Given the description of an element on the screen output the (x, y) to click on. 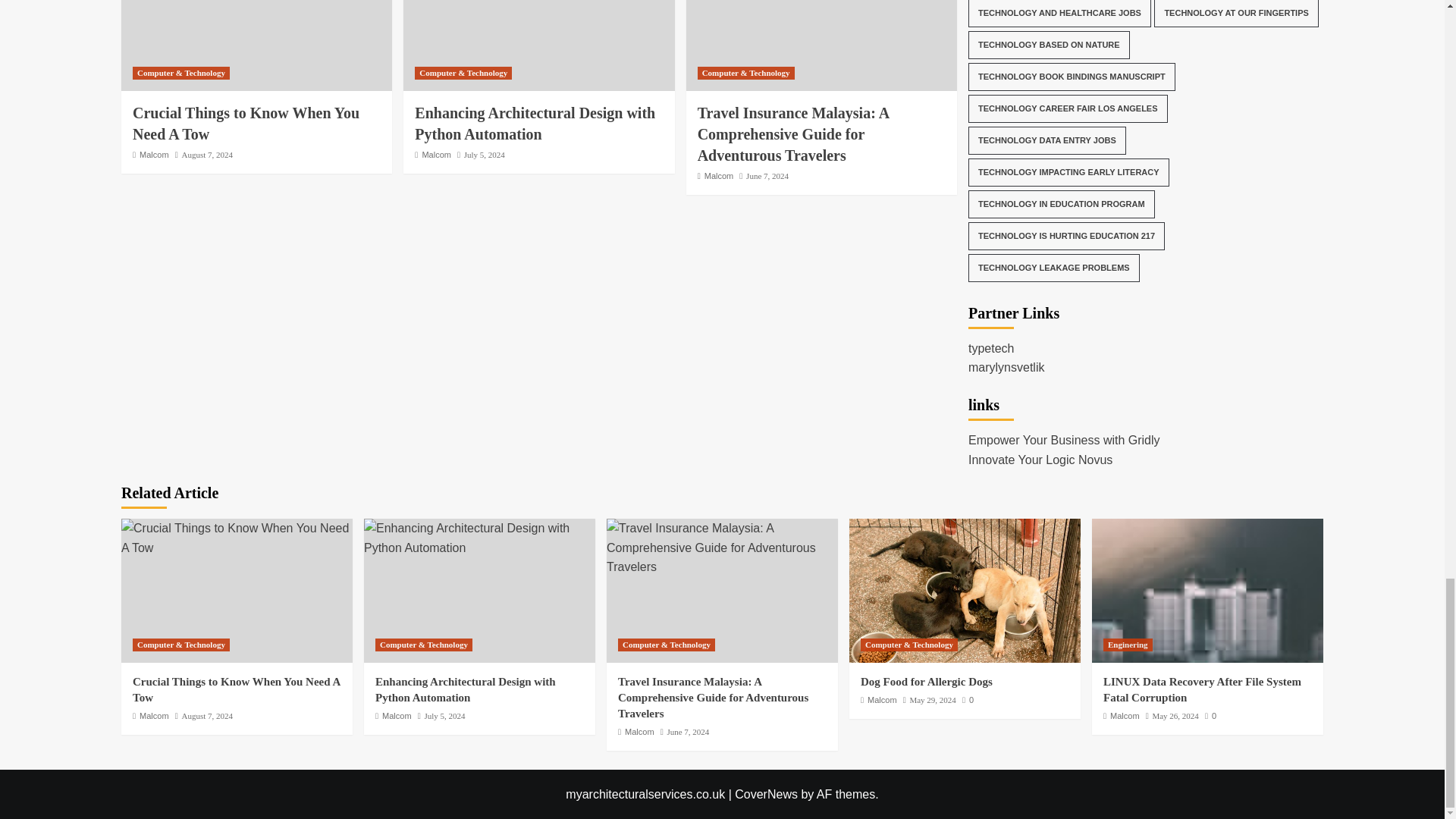
Crucial Things to Know When You Need A Tow (236, 537)
Dog Food for Allergic Dogs (964, 590)
Enhancing Architectural Design with Python Automation (479, 537)
